Given the description of an element on the screen output the (x, y) to click on. 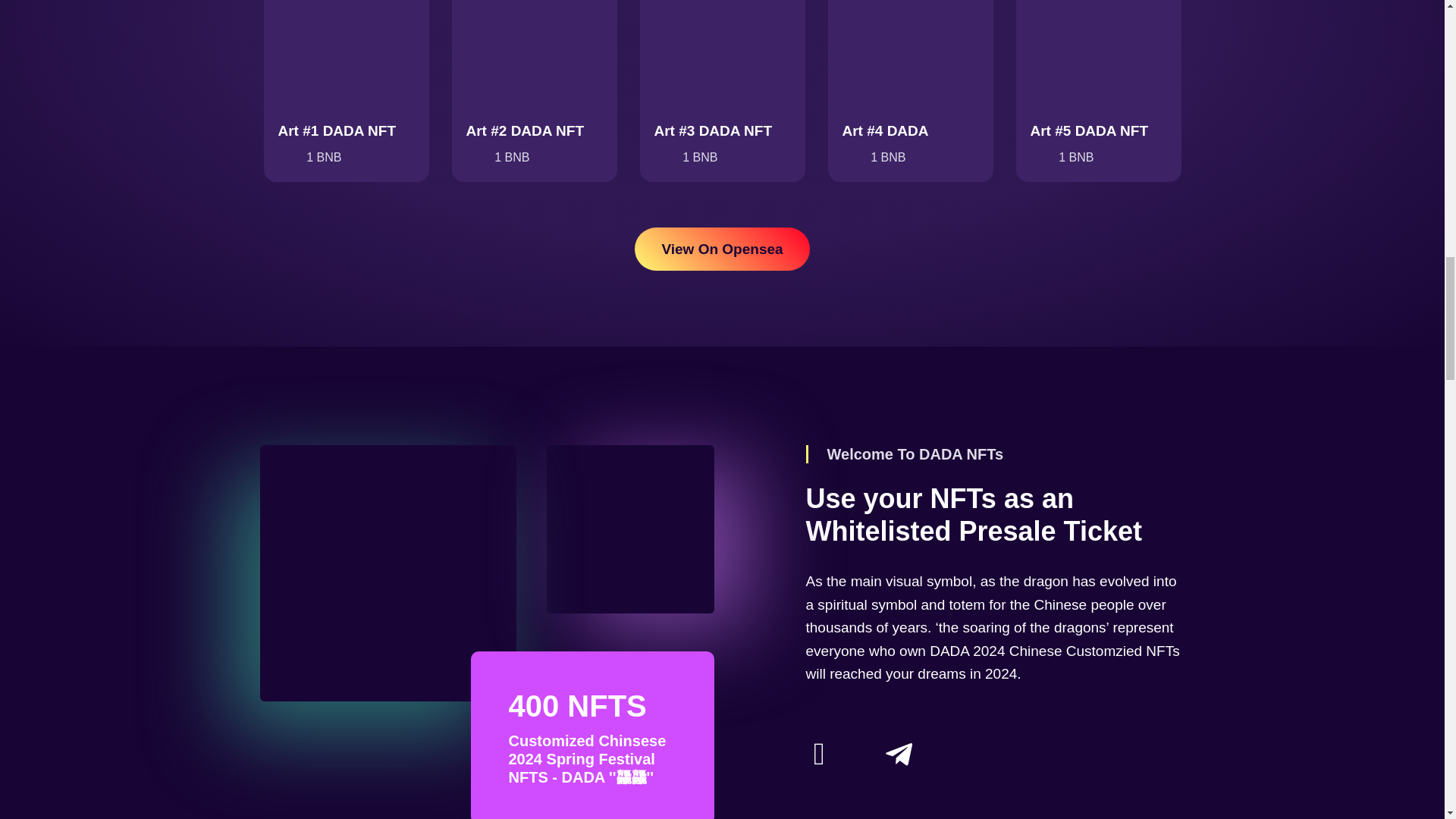
View On Opensea (721, 249)
